Given the description of an element on the screen output the (x, y) to click on. 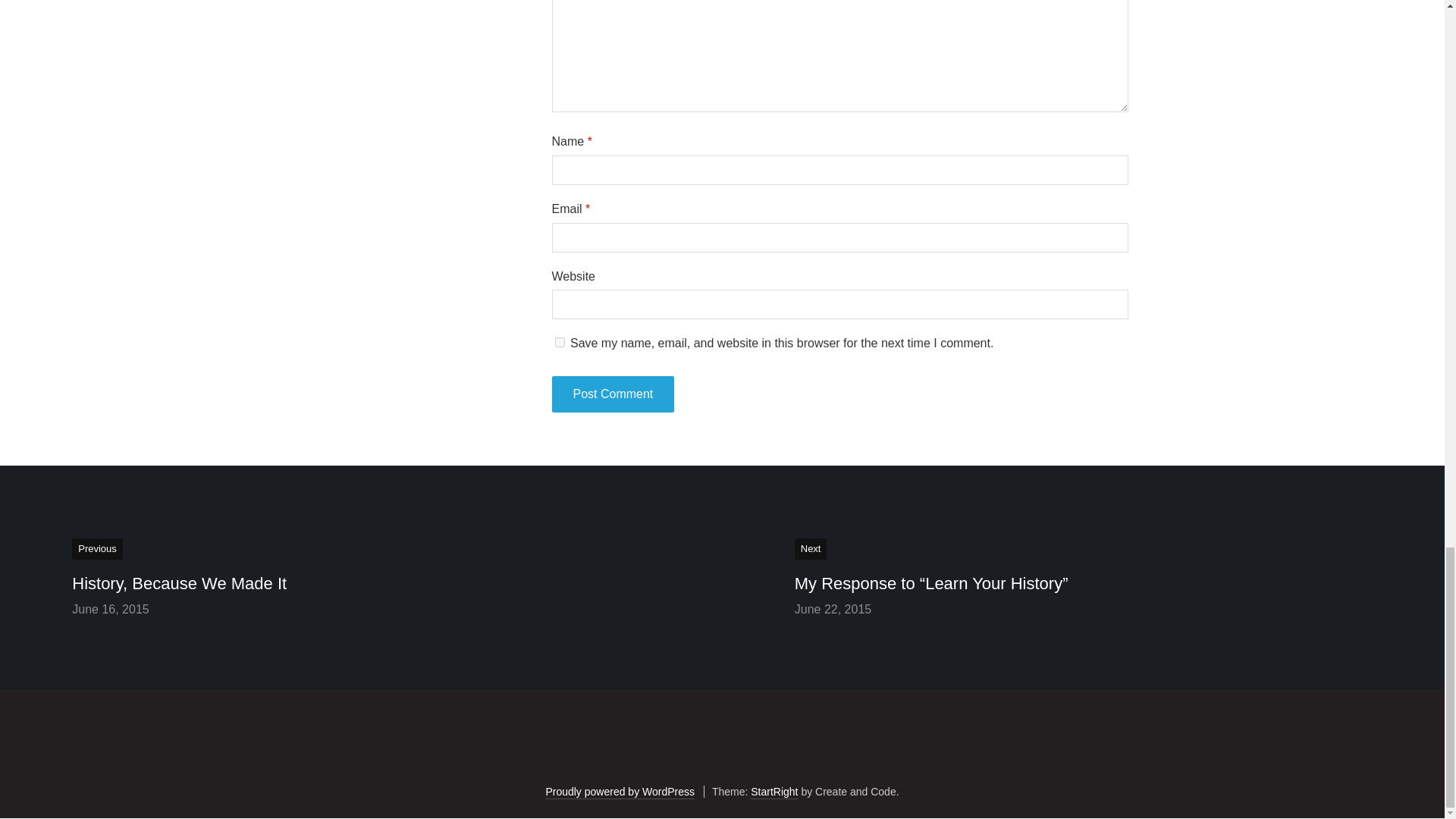
Post Comment (613, 393)
yes (559, 342)
Post Comment (613, 393)
